Given the description of an element on the screen output the (x, y) to click on. 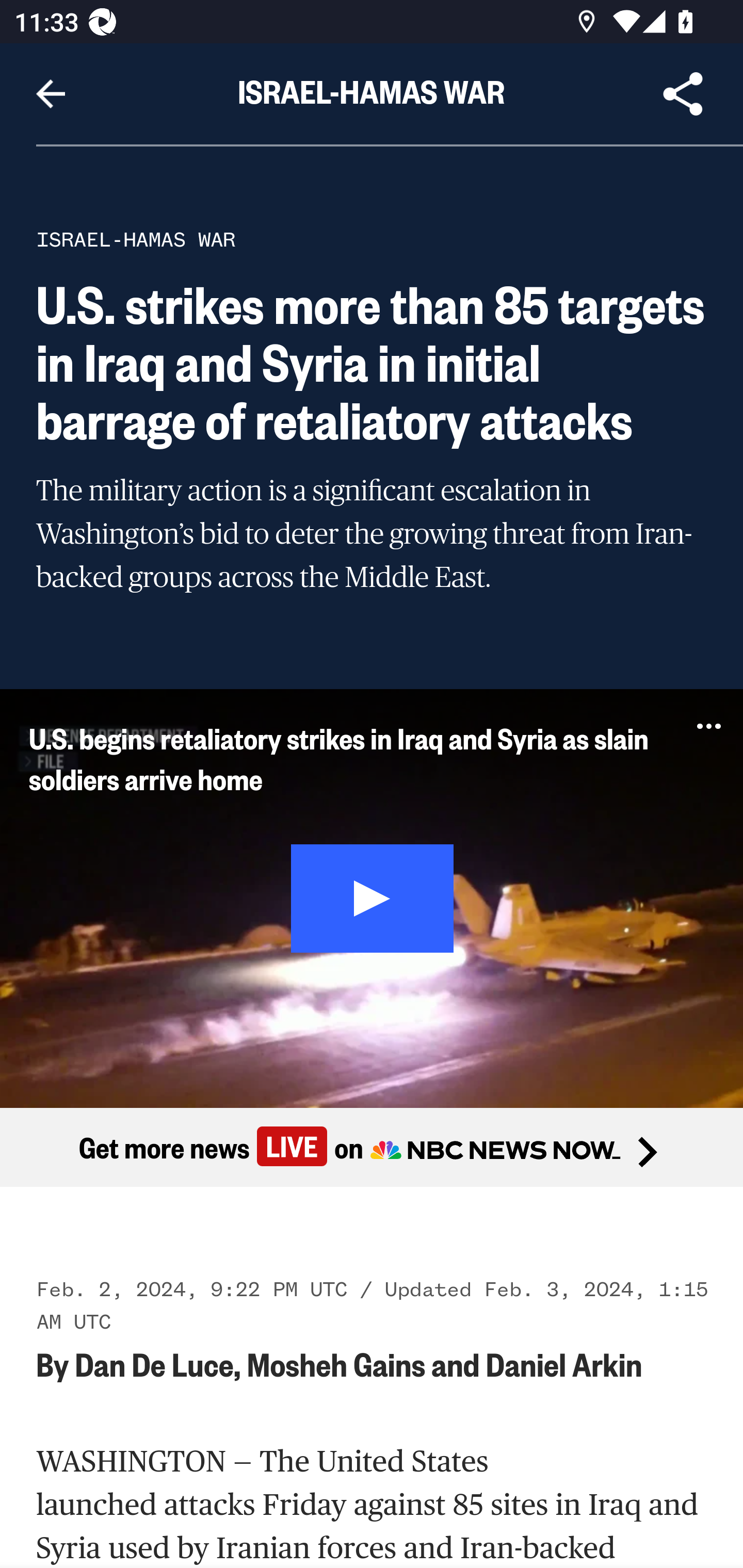
Navigate up (50, 93)
Share Article, button (683, 94)
ISRAEL-HAMAS WAR (136, 239)
Get more news Live on Get more news Live on (371, 1147)
